Given the description of an element on the screen output the (x, y) to click on. 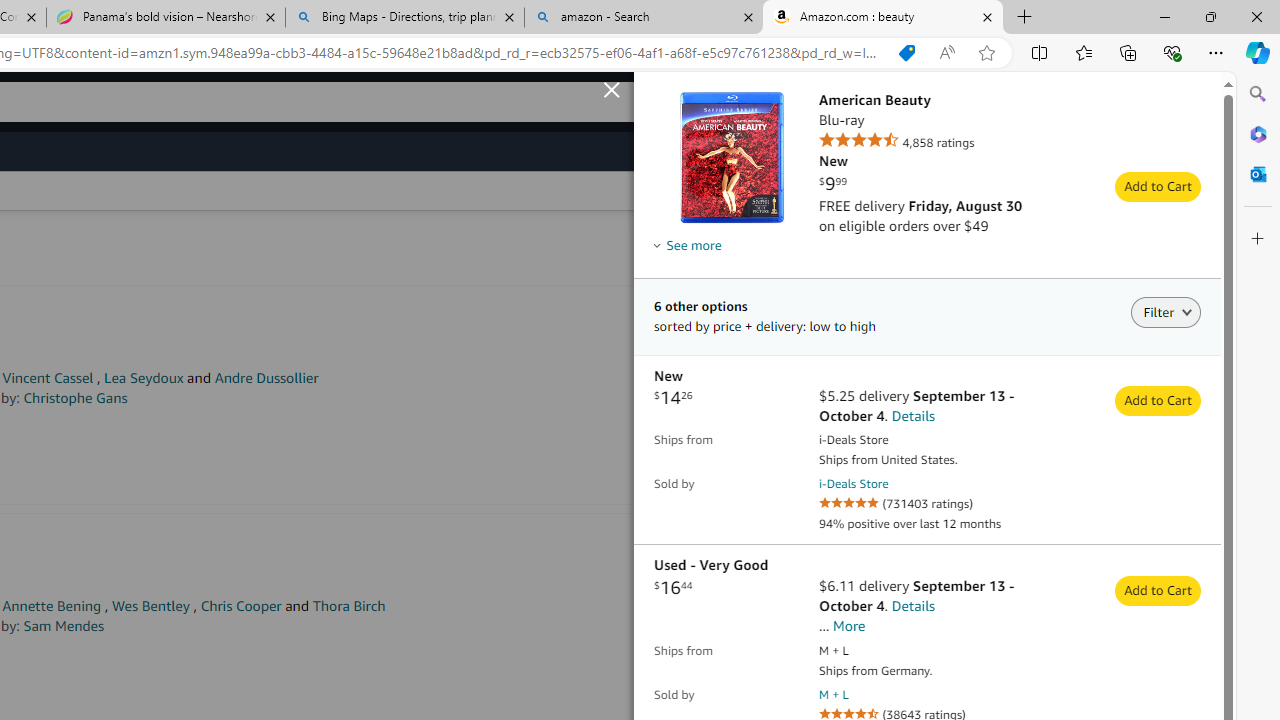
Read aloud this page (Ctrl+Shift+U) (946, 53)
amazon - Search (643, 17)
Sam Mendes (63, 626)
Collections (1128, 52)
Quantity Selector (1153, 430)
Split screen (1039, 52)
Close tab (987, 16)
Browser essentials (1171, 52)
Chris Cooper (240, 606)
Delete (1208, 431)
Filter Dropdown Show (1186, 311)
New Tab (1025, 17)
More. about shipping (849, 626)
